Given the description of an element on the screen output the (x, y) to click on. 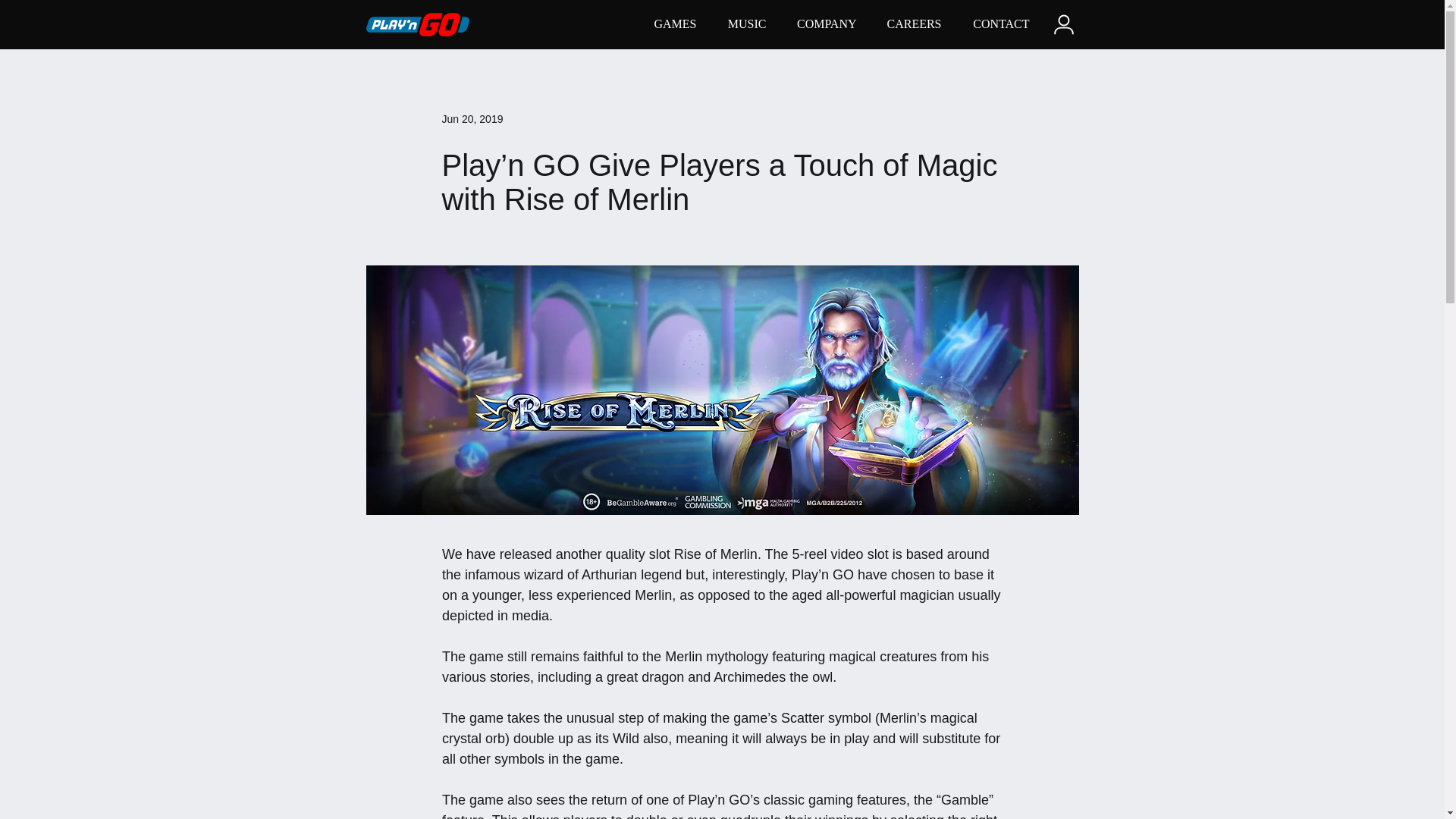
GAMES (670, 23)
CAREERS (909, 23)
Jun 20, 2019 (471, 118)
MUSIC (742, 23)
COMPANY (822, 23)
CONTACT (996, 23)
